Given the description of an element on the screen output the (x, y) to click on. 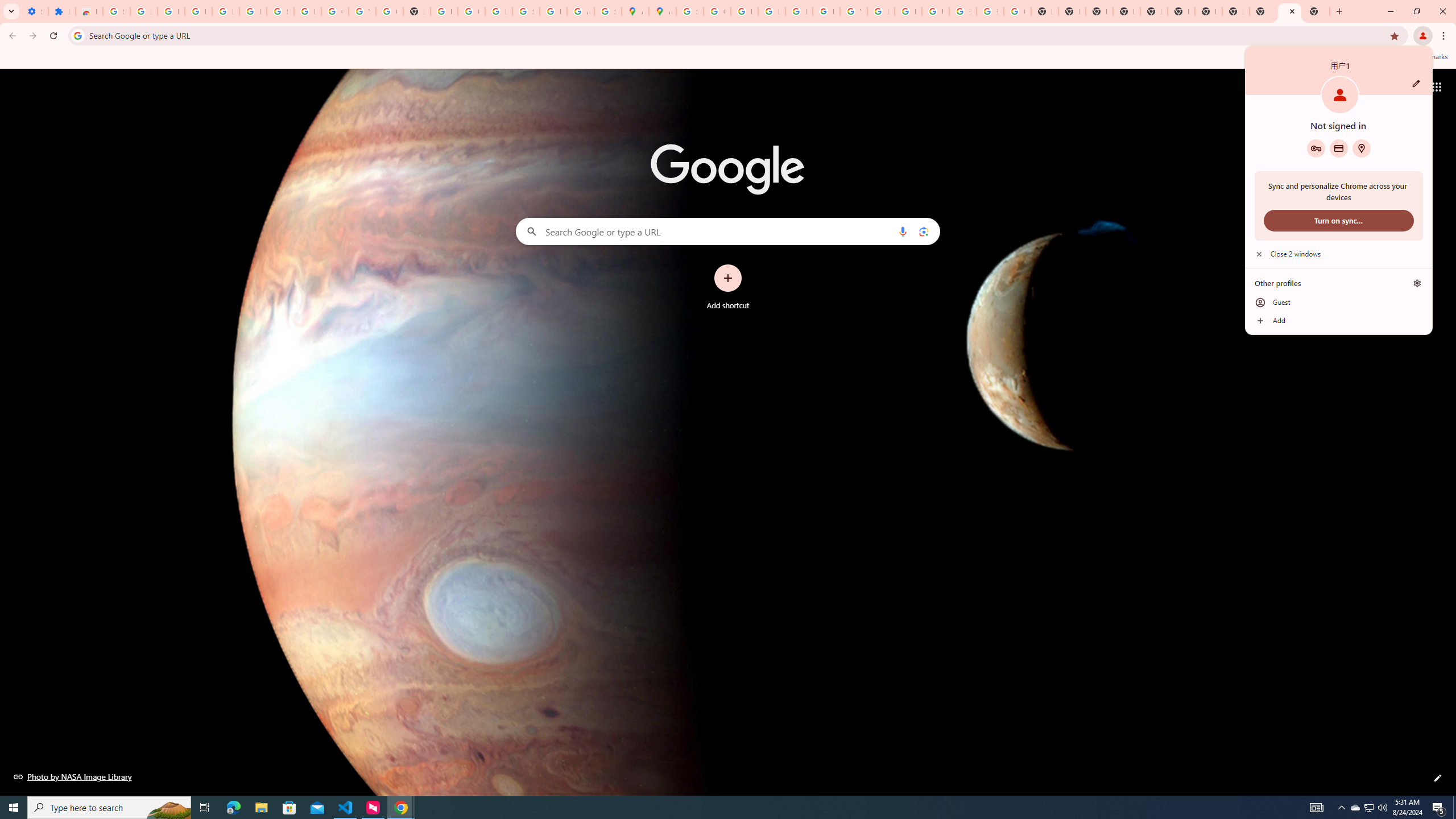
Add (1338, 321)
Learn how to find your photos - Google Photos Help (225, 11)
Customize profile (1415, 83)
Microsoft Edge (233, 807)
Notification Chevron (1341, 807)
Sign in - Google Accounts (116, 11)
Privacy Help Center - Policies Help (771, 11)
Task View (204, 807)
Q2790: 100% (1382, 807)
Action Center, 5 new notifications (1439, 807)
